Given the description of an element on the screen output the (x, y) to click on. 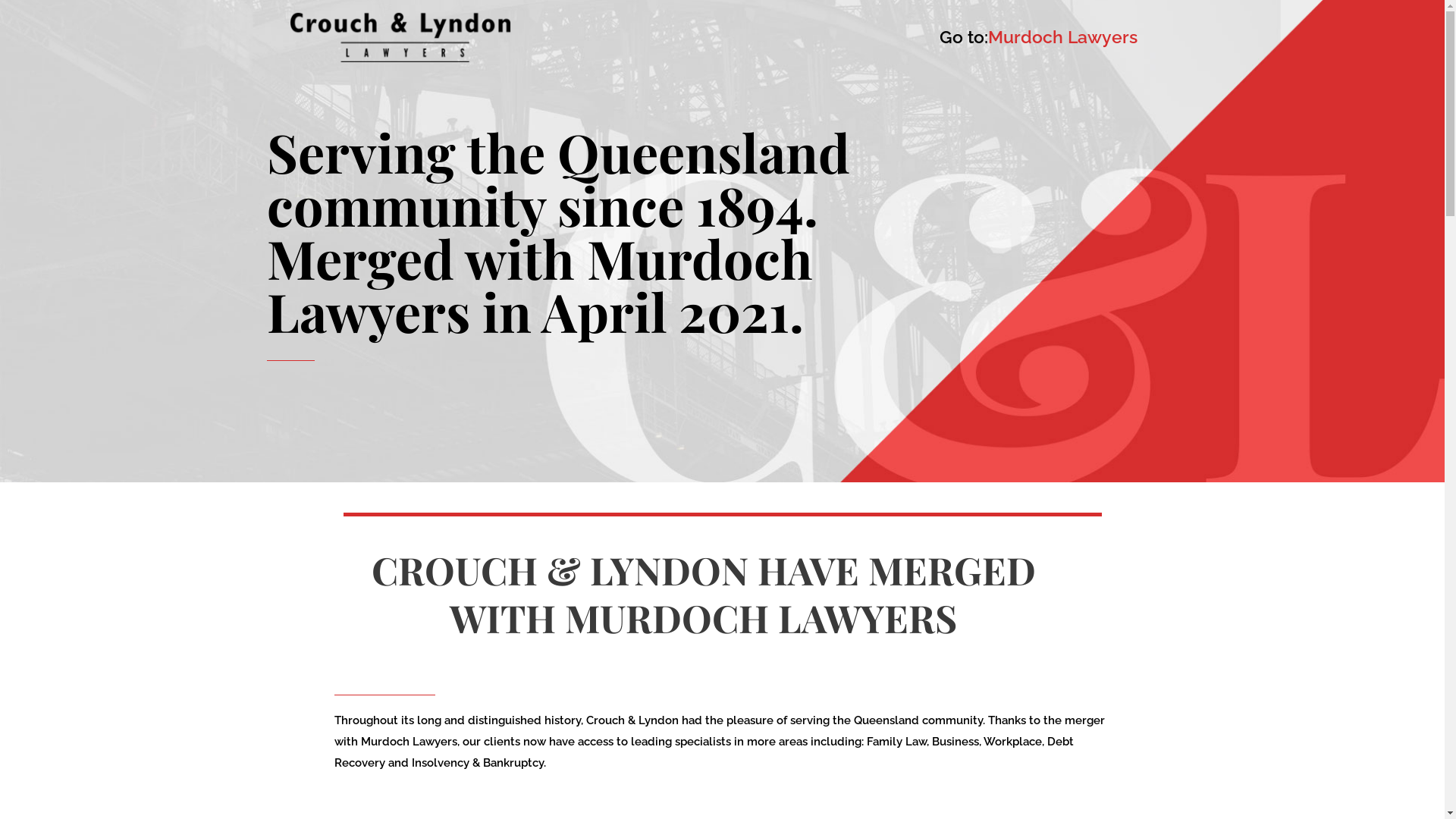
Go to:
Murdoch Lawyers Element type: text (1038, 37)
